Given the description of an element on the screen output the (x, y) to click on. 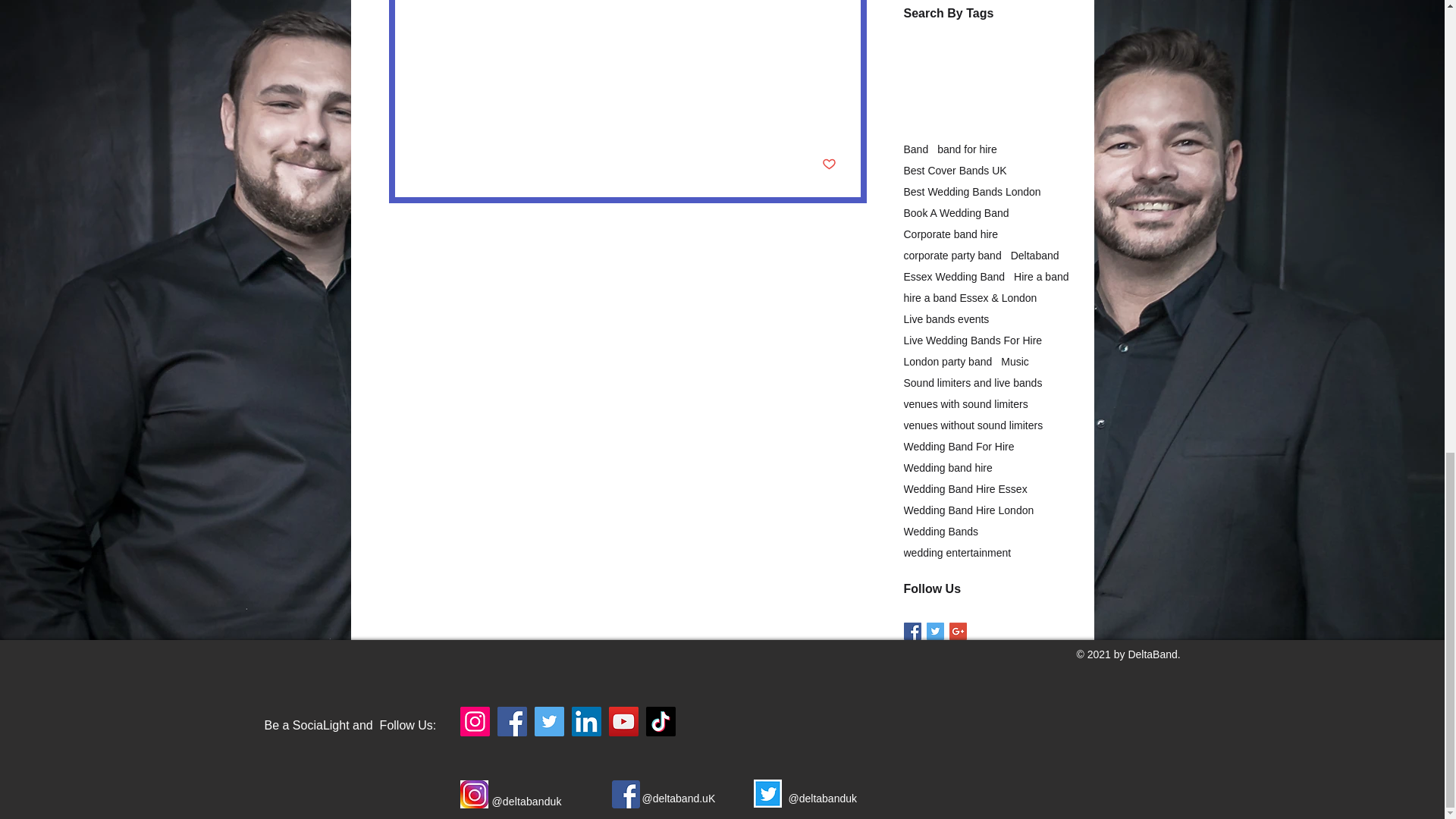
Corporate band hire (951, 234)
venues with sound limiters (481, 67)
Best Cover Bands UK (955, 170)
Sound limiters and live bands (488, 46)
Wedding Band Hire London (680, 24)
corporate party band (952, 255)
Wedding Band Hire Essex (545, 24)
Band (916, 149)
Best Wedding Bands London (972, 191)
Hire a band (446, 24)
Book A Wedding Band (956, 213)
venues without sound limiters (636, 46)
band for hire (967, 149)
Post not marked as liked (828, 164)
